Given the description of an element on the screen output the (x, y) to click on. 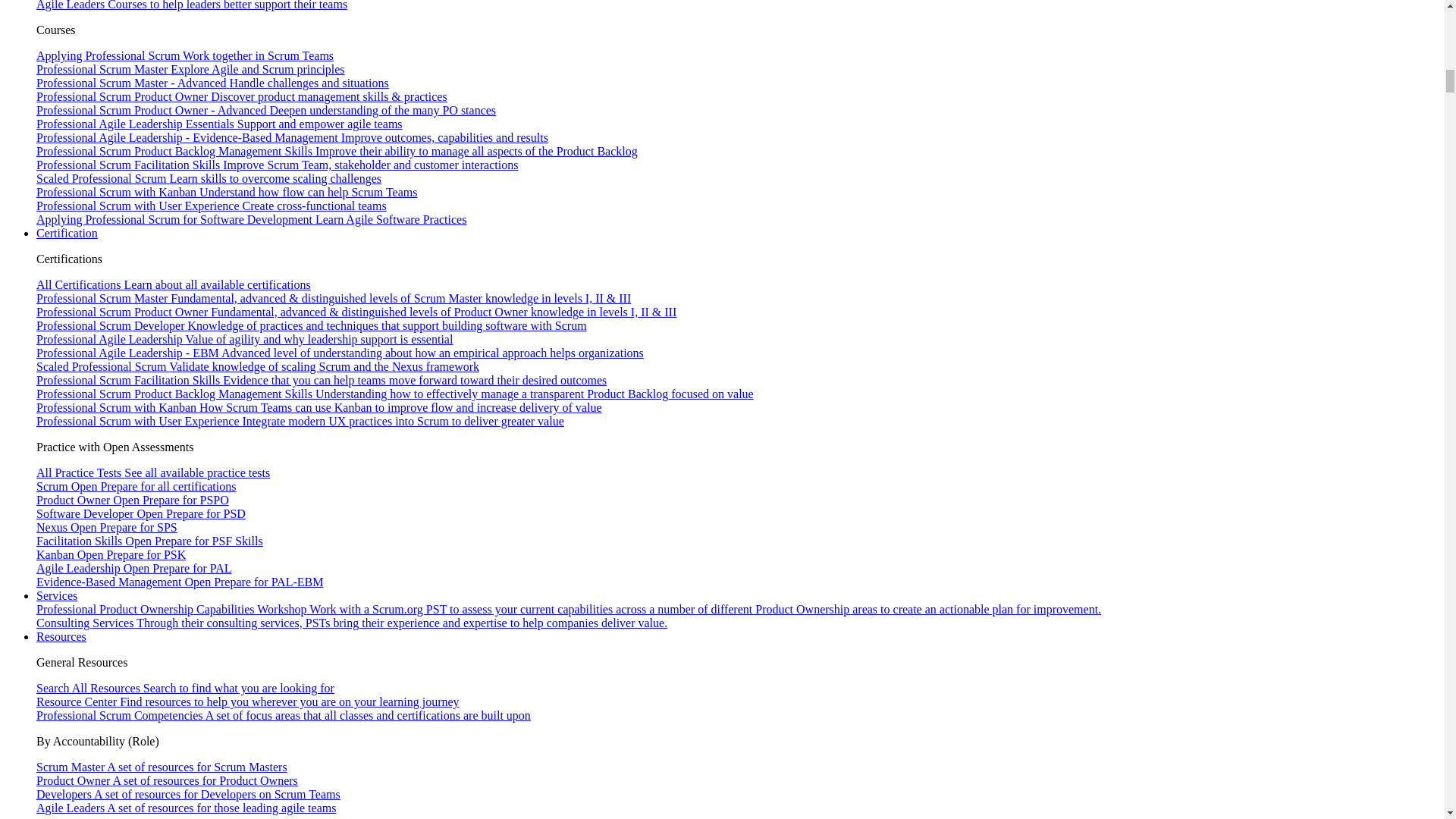
Professional Scrum Master Explore Agile and Scrum principles (190, 69)
Applying Professional Scrum Work together in Scrum Teams (184, 55)
